Given the description of an element on the screen output the (x, y) to click on. 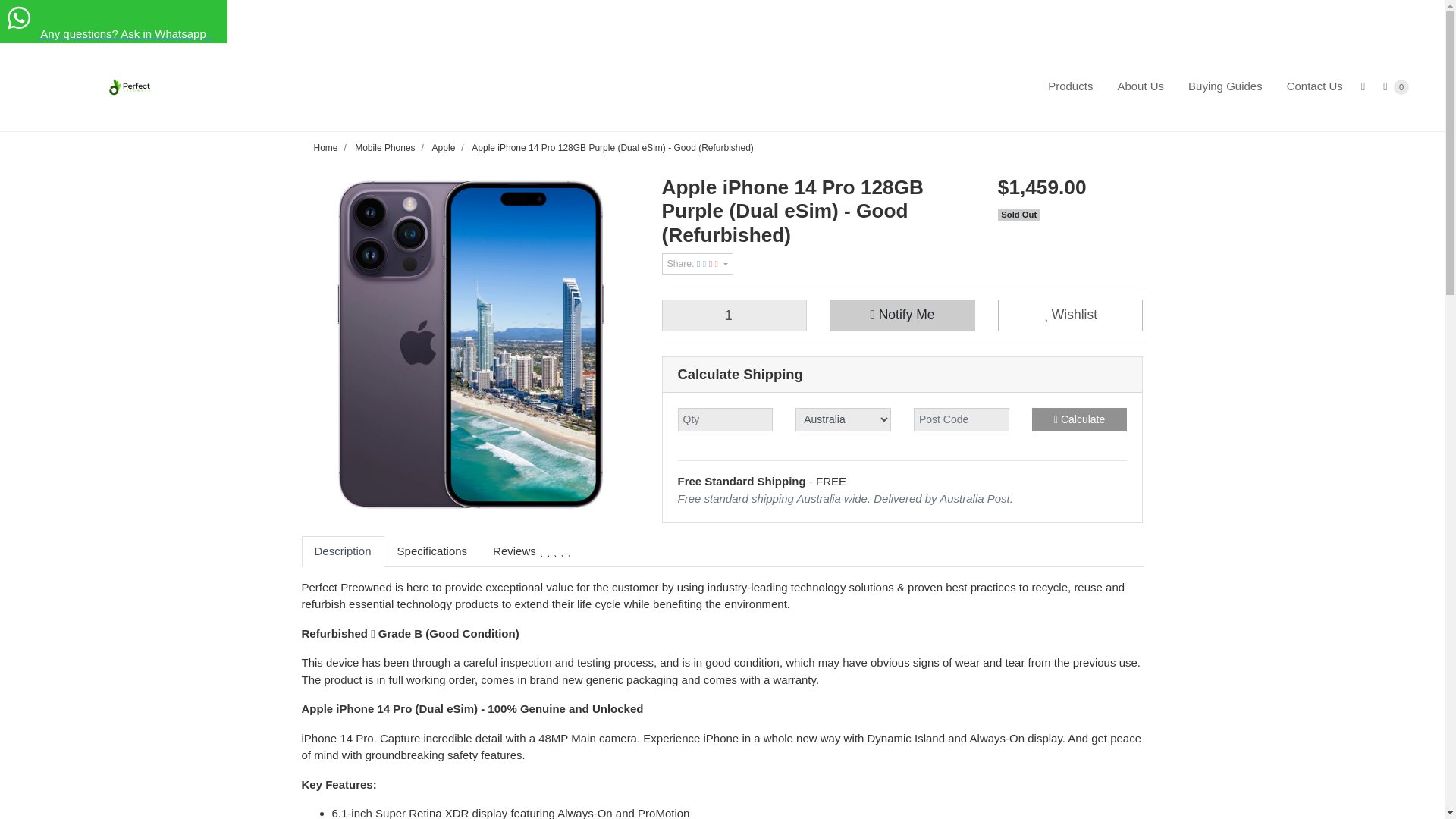
Apple (443, 147)
Notify Me (902, 314)
Mobile Phones (384, 147)
Contact Us (1315, 86)
Description (342, 551)
Calculate (1079, 419)
About Us (1140, 86)
1 (733, 314)
0 (1399, 86)
Share: (696, 263)
Buying Guides (1225, 86)
Add To Wishlist (1069, 314)
Wishlist (1069, 314)
Calculate (1079, 419)
Reviews (531, 551)
